Given the description of an element on the screen output the (x, y) to click on. 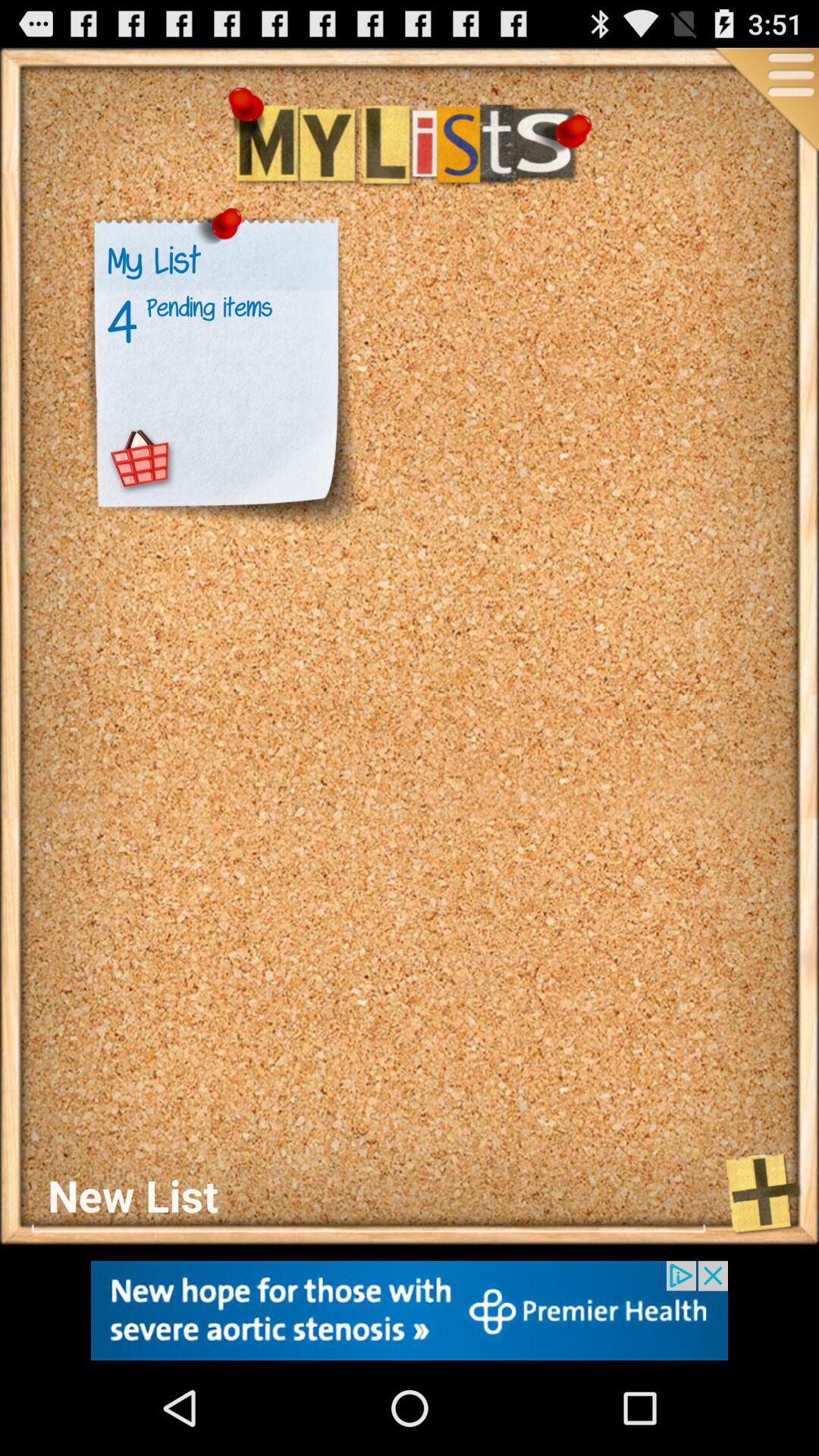
click on add cart (141, 460)
